Given the description of an element on the screen output the (x, y) to click on. 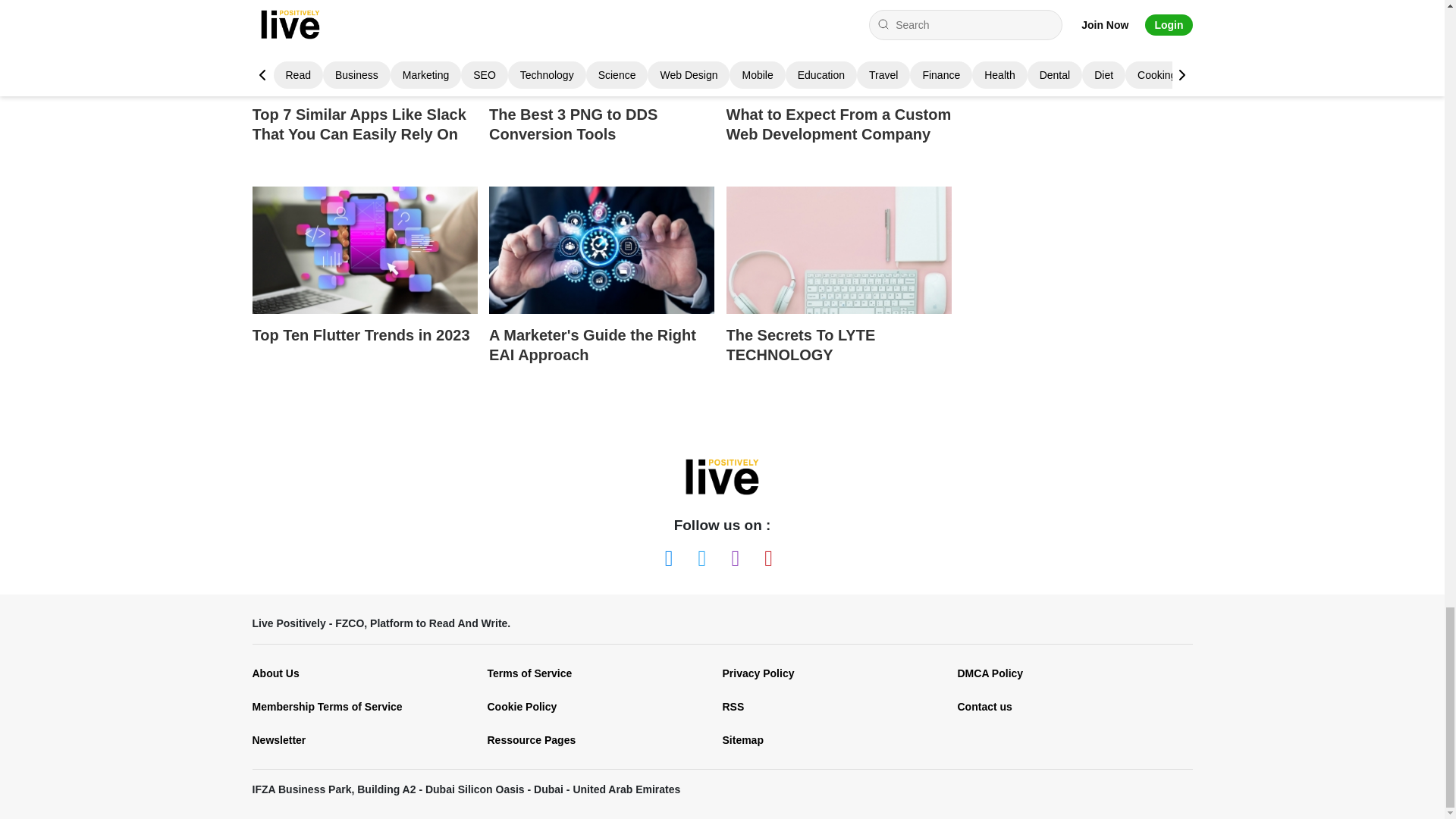
A Marketer's Guide the Right EAI Approach (601, 249)
Secrets LYTE TECHNOLOGY (839, 249)
A Marketer's Guide the Right EAI Approach (601, 288)
Top Ten Flutter Trends in 2023 (364, 288)
What to Expect From a Custom Web Development Company (839, 85)
Top Ten Flutter Trends in 2023 (364, 249)
Top 7 Similar Apps Like Slack That You Can Easily Rely On (364, 85)
Apps Like Slack (364, 46)
Conversion Tools (601, 46)
Web Development (839, 46)
